Given the description of an element on the screen output the (x, y) to click on. 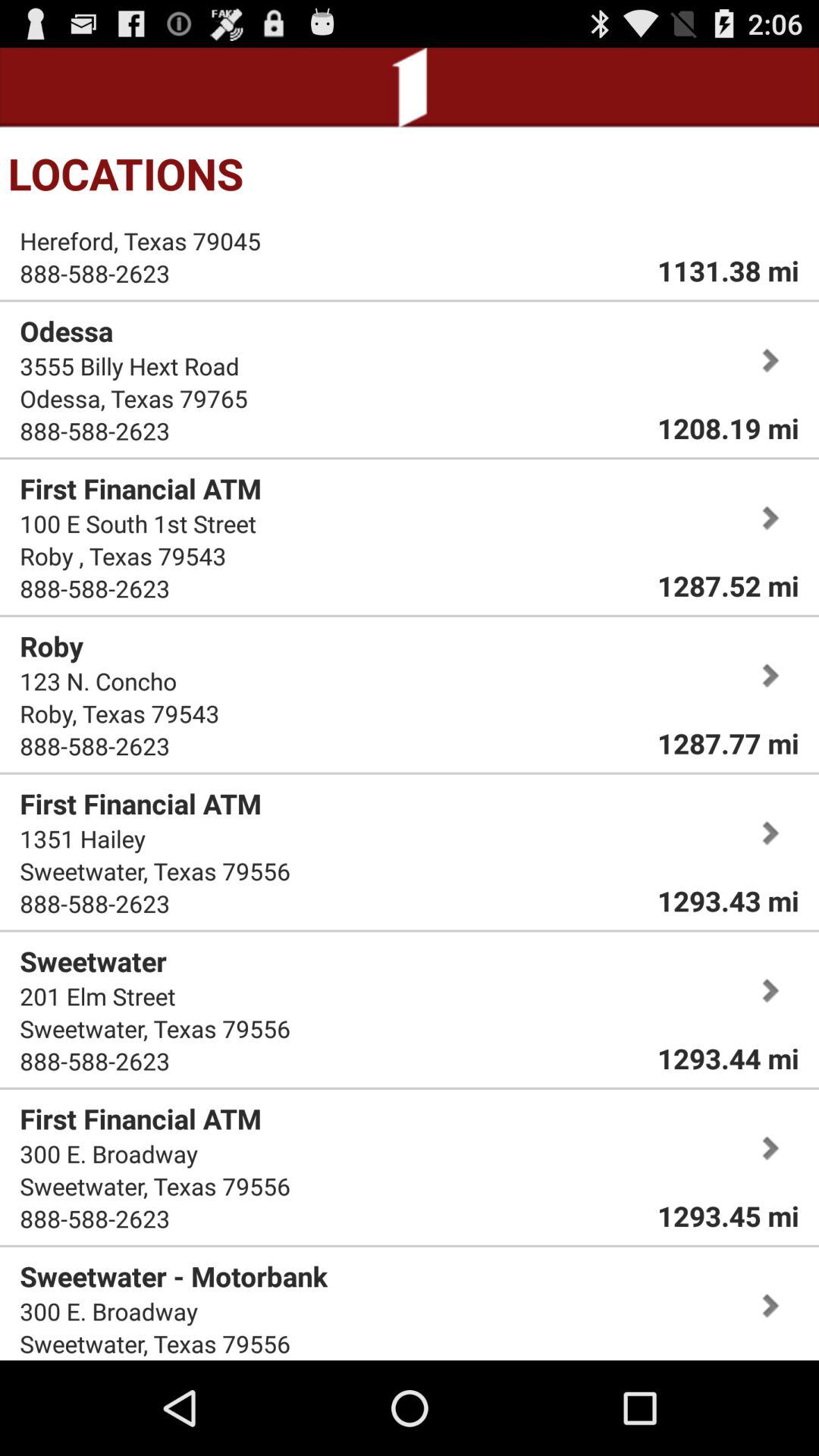
turn off the item below the 888-588-2623 app (173, 1276)
